Given the description of an element on the screen output the (x, y) to click on. 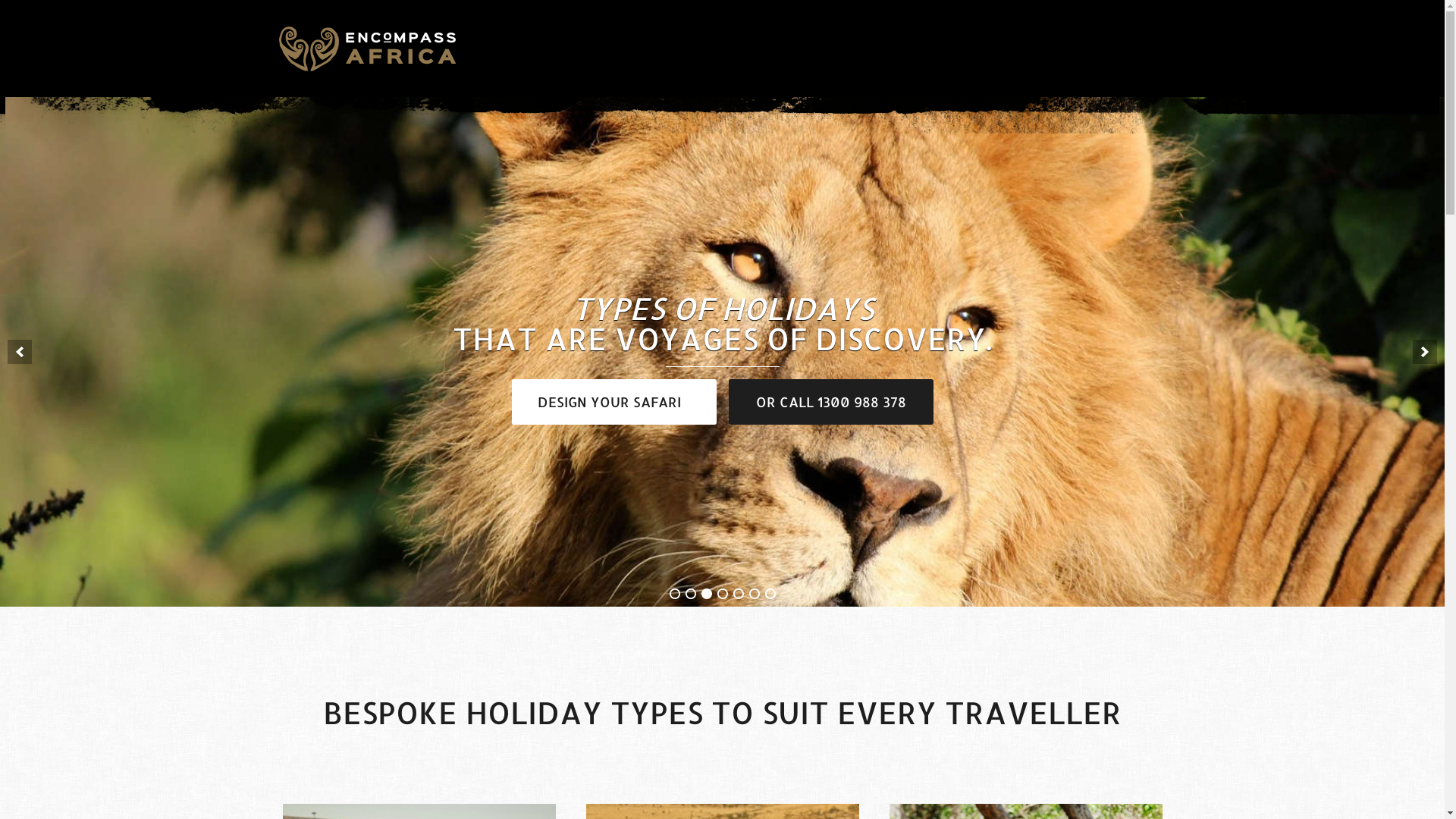
Encompass Africa Element type: hover (367, 48)
DESIGN YOUR SAFARI Element type: text (613, 401)
OR CALL 1300 988 378 Element type: text (830, 401)
Encompass Africa Element type: hover (367, 47)
